Given the description of an element on the screen output the (x, y) to click on. 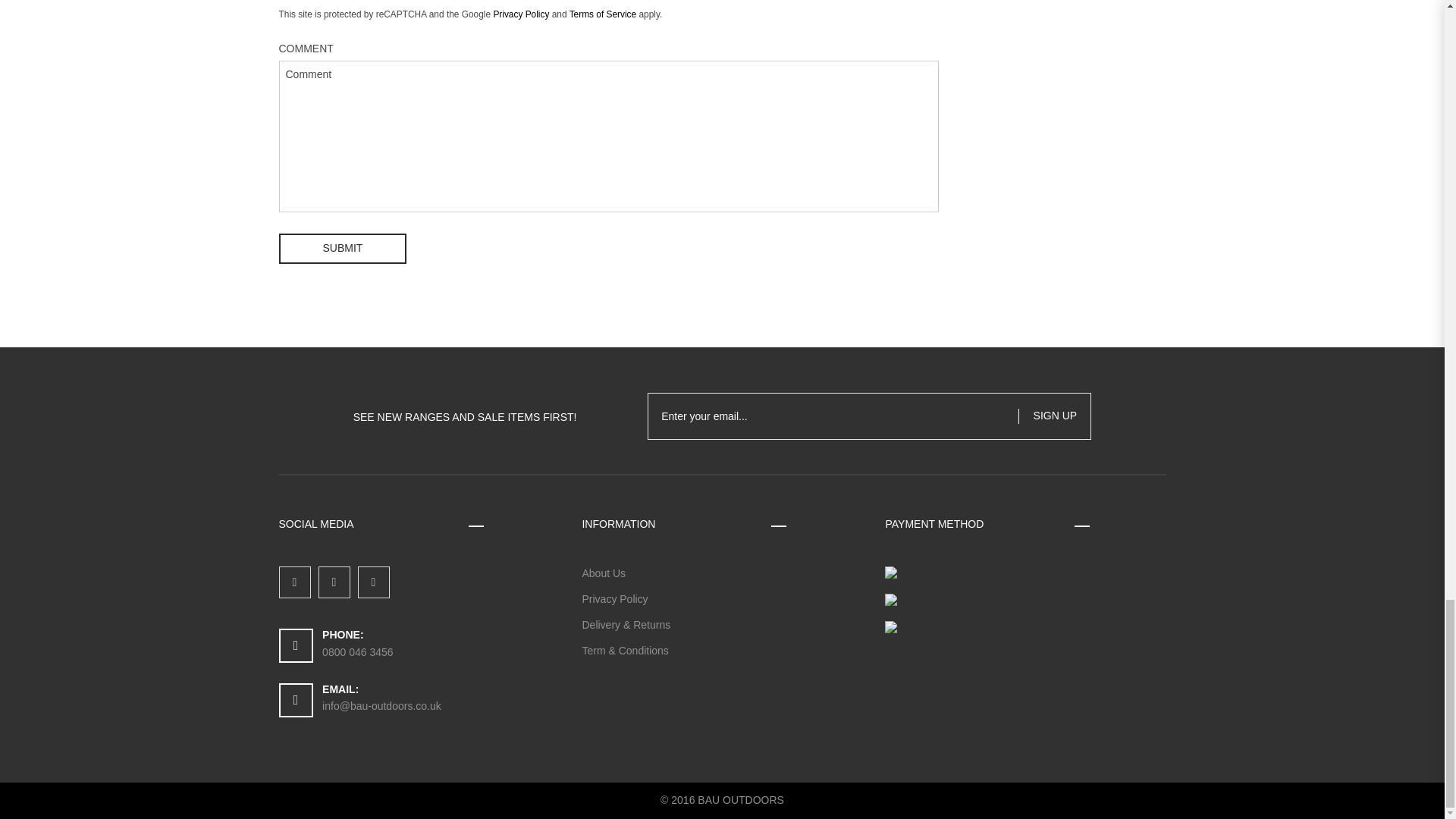
SUBMIT (343, 248)
Terms of Service (603, 14)
Privacy Policy (520, 14)
